Given the description of an element on the screen output the (x, y) to click on. 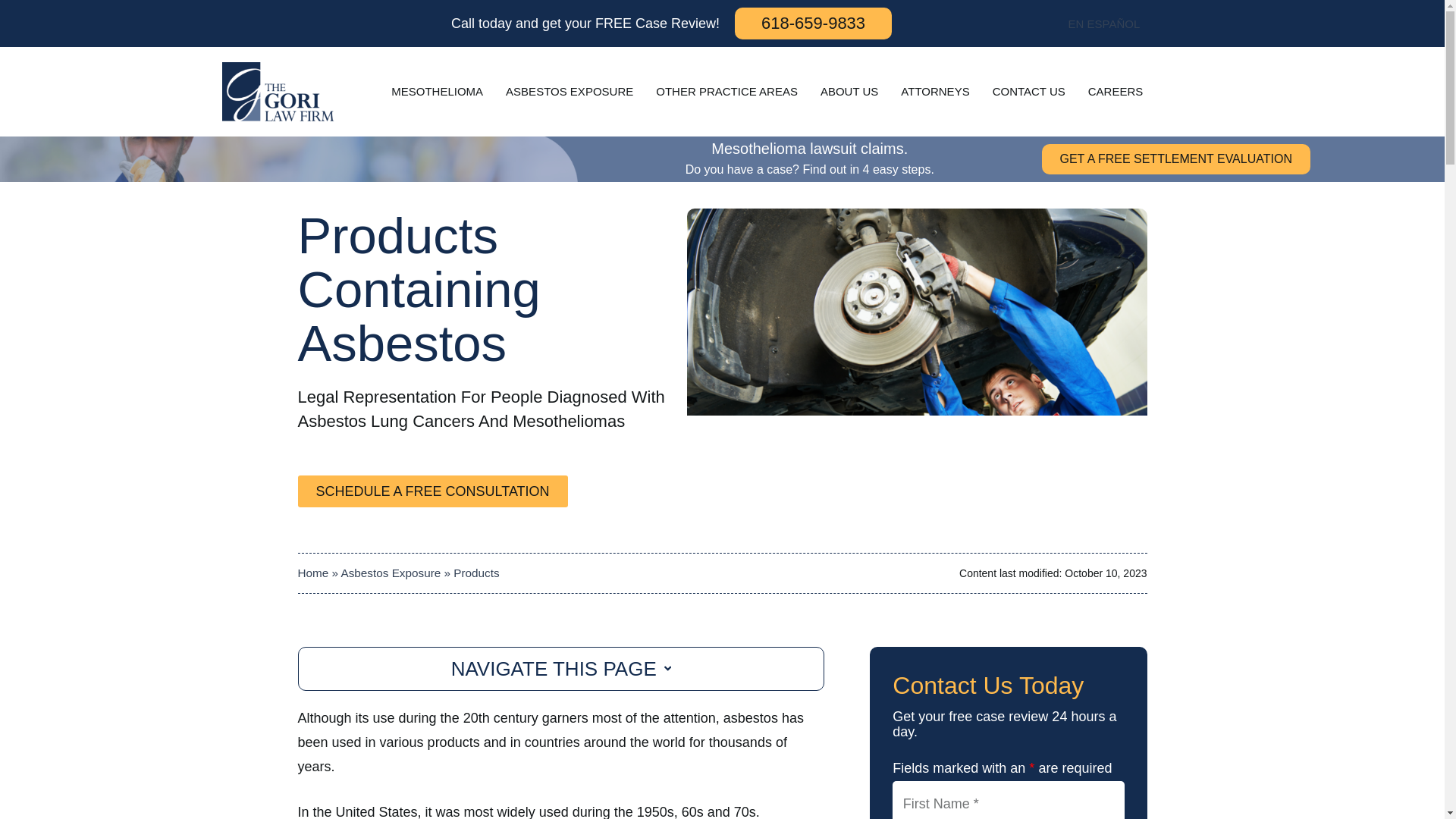
MESOTHELIOMA (437, 91)
618-659-9833 (813, 23)
ASBESTOS EXPOSURE (570, 91)
OTHER PRACTICE AREAS (727, 91)
